Given the description of an element on the screen output the (x, y) to click on. 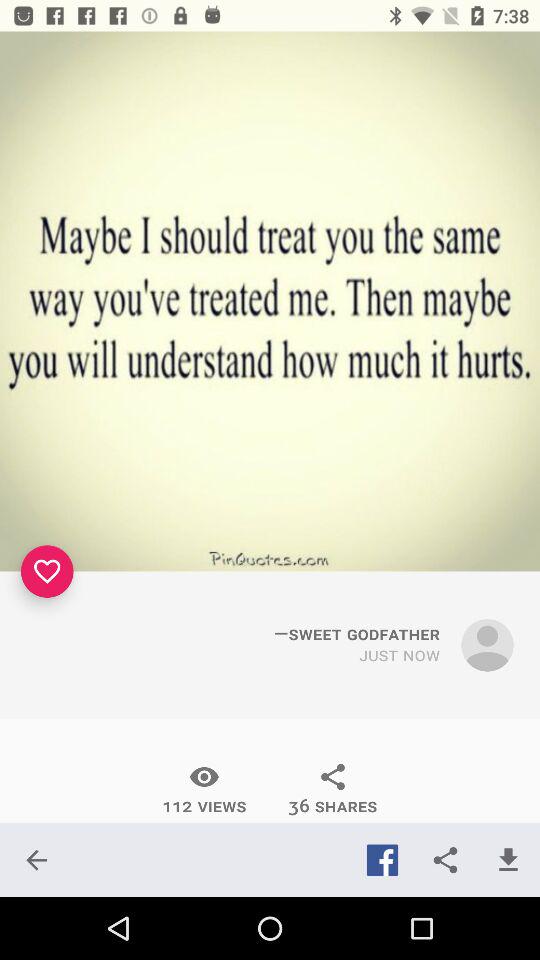
scroll until 112 views (204, 789)
